Given the description of an element on the screen output the (x, y) to click on. 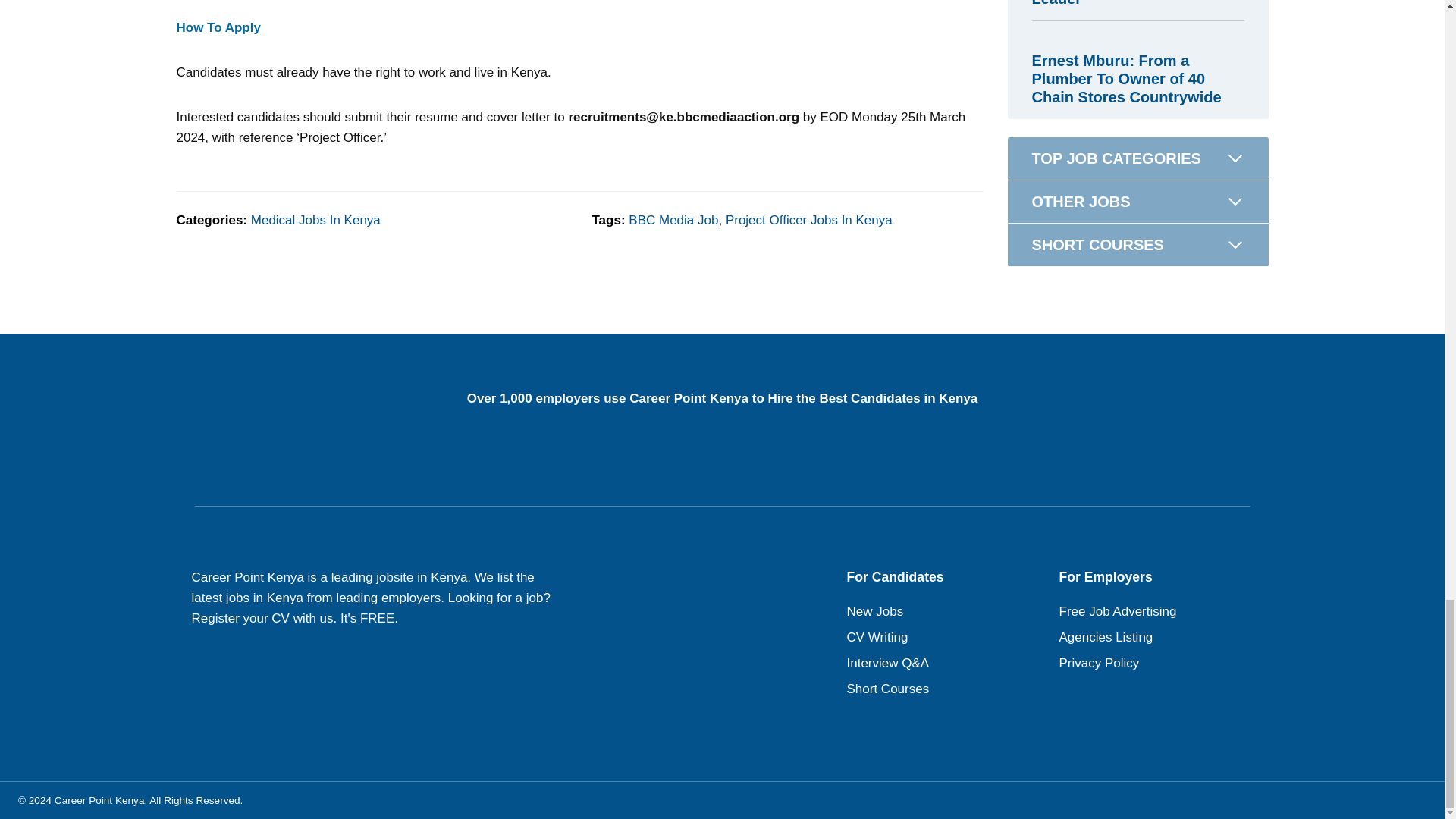
Medical Jobs In Kenya (315, 219)
Project Officer Jobs In Kenya (808, 219)
BBC Media Job (672, 219)
